Given the description of an element on the screen output the (x, y) to click on. 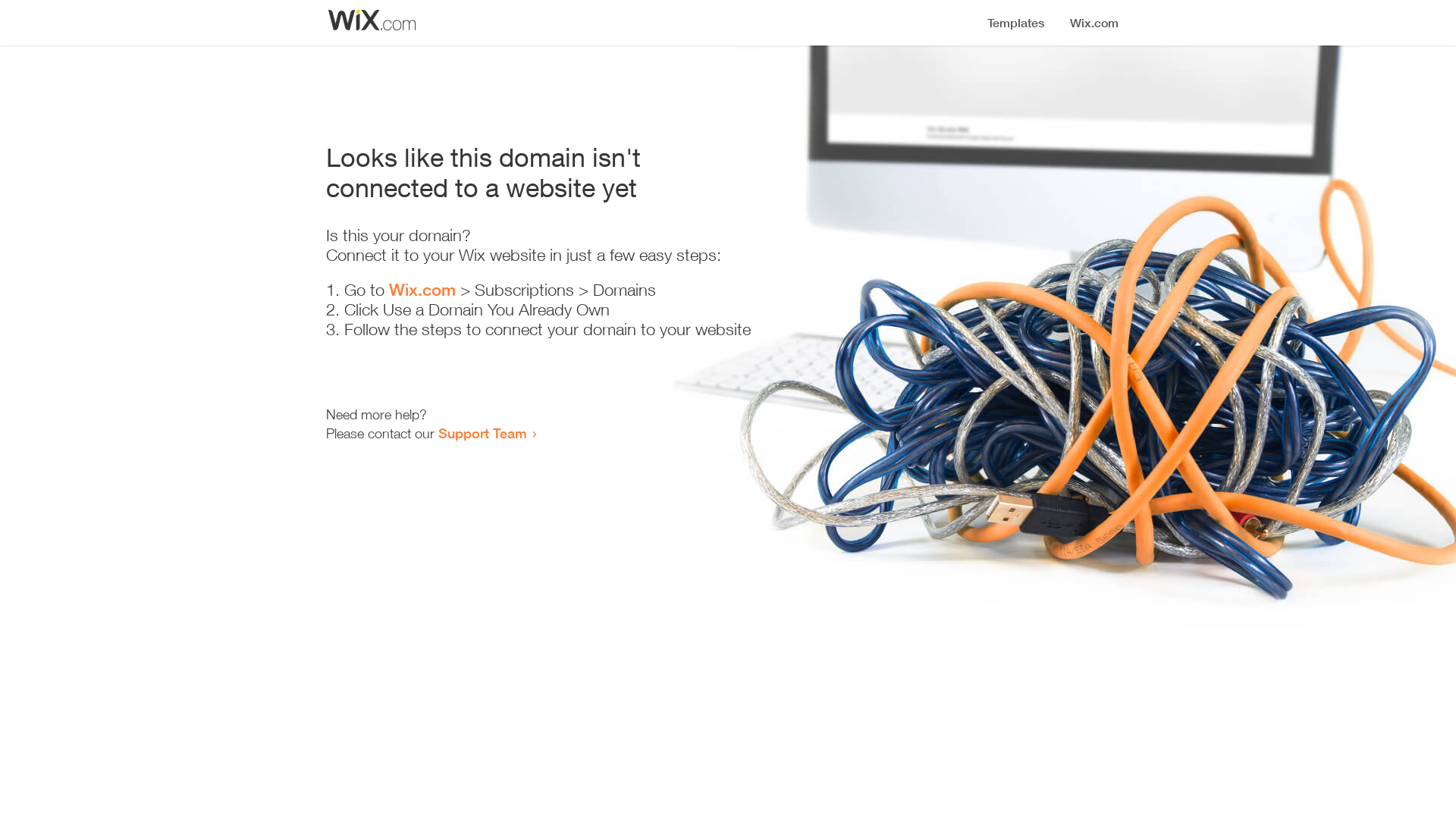
Wix.com Element type: text (422, 289)
Support Team Element type: text (482, 432)
